Given the description of an element on the screen output the (x, y) to click on. 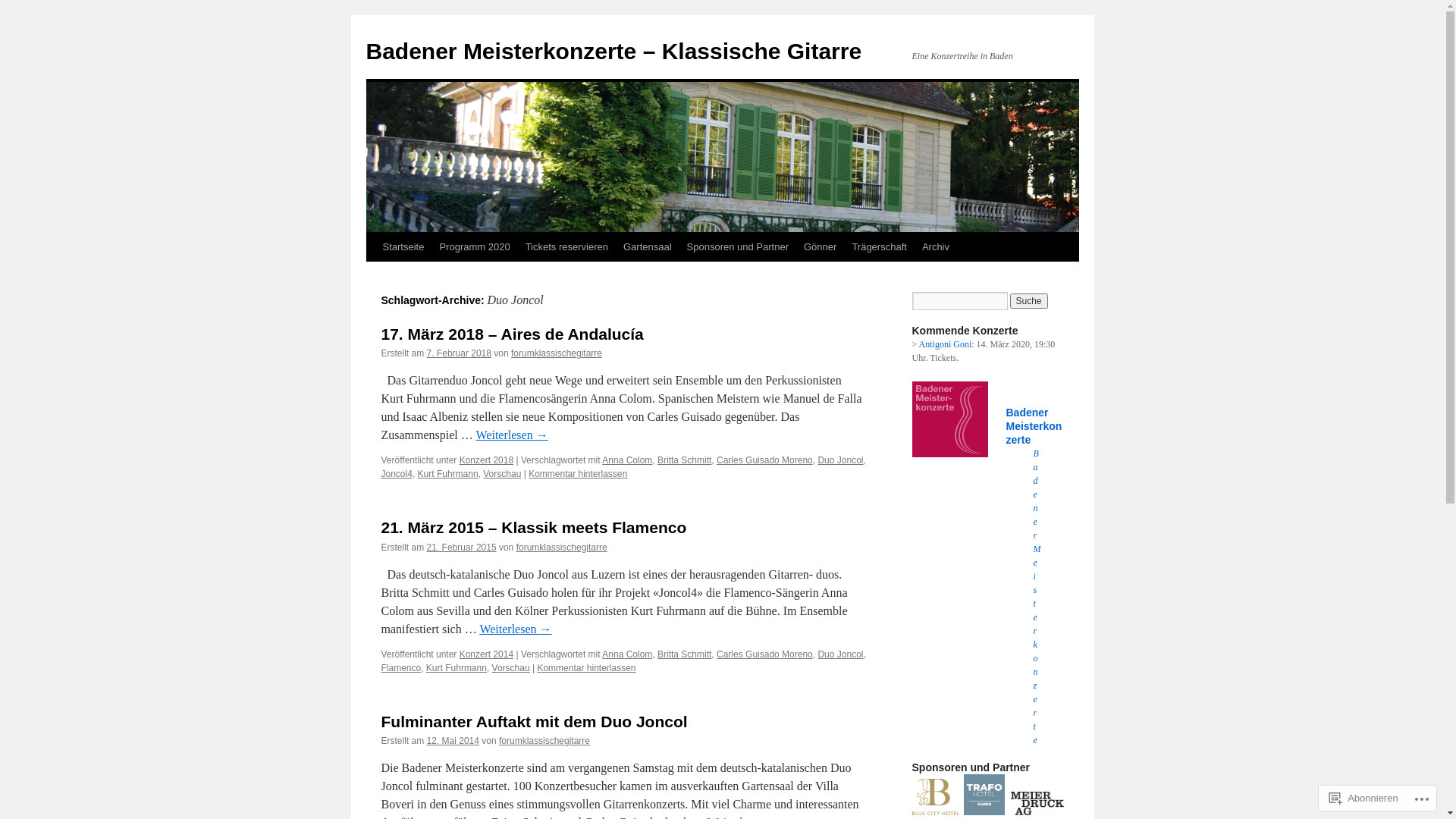
21. Februar 2015 Element type: text (461, 547)
7. Februar 2018 Element type: text (458, 353)
Carles Guisado Moreno Element type: text (764, 654)
Kurt Fuhrmann Element type: text (456, 667)
Konzert 2014 Element type: text (486, 654)
Flamenco Element type: text (400, 667)
Carles Guisado Moreno Element type: text (764, 460)
Kommentar hinterlassen Element type: text (585, 667)
Konzert 2018 Element type: text (486, 460)
Joncol4 Element type: text (395, 473)
Britta Schmitt Element type: text (684, 654)
Abonnieren Element type: text (1363, 797)
Britta Schmitt Element type: text (684, 460)
Badener Meisterkonzerte Element type: text (1033, 425)
Kommentar hinterlassen Element type: text (577, 473)
Fulminanter Auftakt mit dem Duo Joncol Element type: text (533, 721)
Duo Joncol Element type: text (839, 654)
Archiv Element type: text (935, 246)
Anna Colom Element type: text (627, 654)
Sponsoren und Partner Element type: text (737, 246)
Gartensaal Element type: text (647, 246)
Vorschau Element type: text (501, 473)
Kurt Fuhrmann Element type: text (447, 473)
Startseite Element type: text (402, 246)
Anna Colom Element type: text (627, 460)
Vorschau Element type: text (511, 667)
Programm 2020 Element type: text (474, 246)
Antigoni Goni Element type: text (945, 343)
Duo Joncol Element type: text (839, 460)
forumklassischegitarre Element type: text (556, 353)
forumklassischegitarre Element type: text (561, 547)
Tickets reservieren Element type: text (566, 246)
12. Mai 2014 Element type: text (452, 740)
Badener Meisterkonzerte Element type: text (1036, 596)
forumklassischegitarre Element type: text (543, 740)
Suche Element type: text (1029, 300)
